Given the description of an element on the screen output the (x, y) to click on. 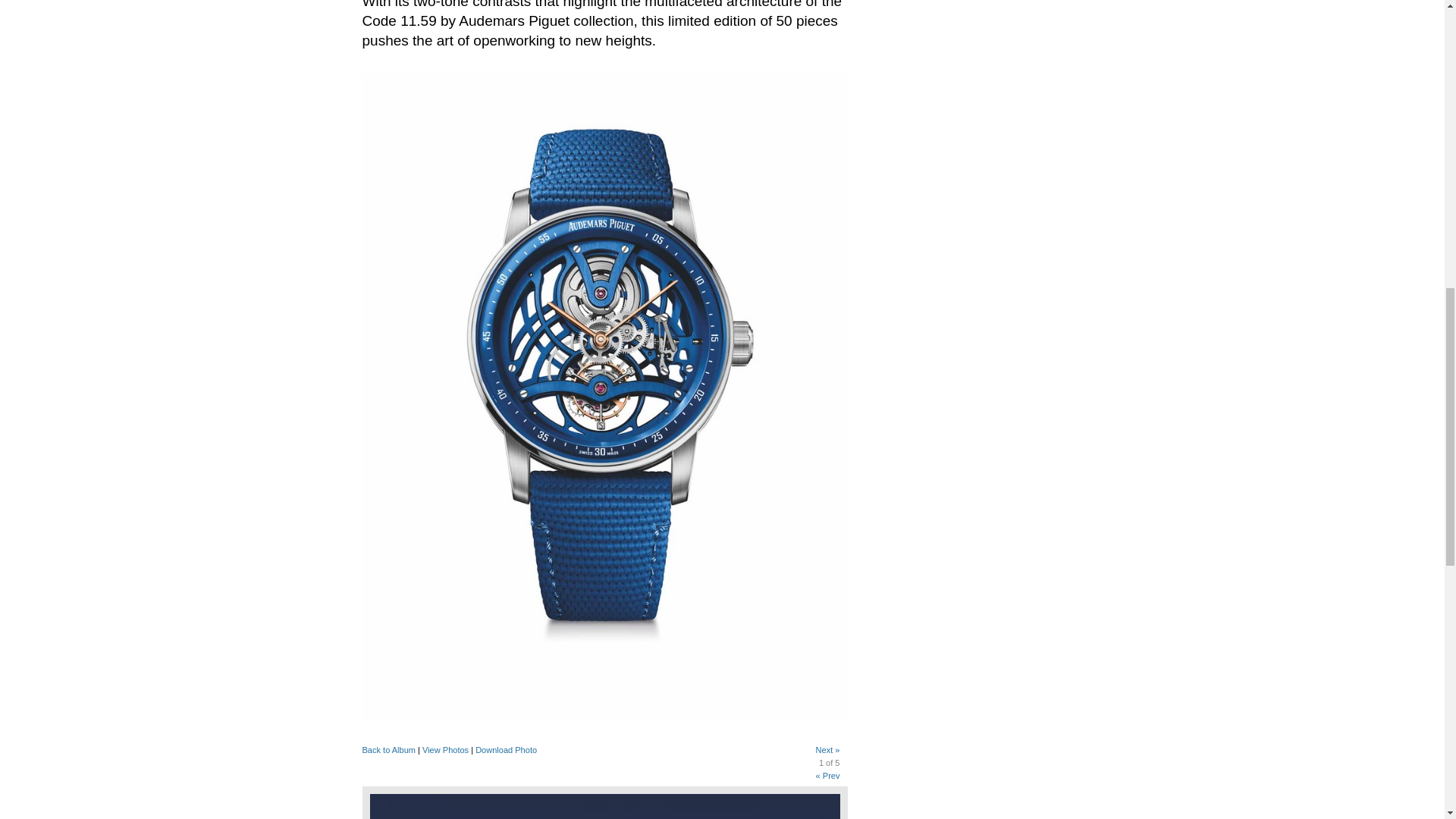
Back to Album (389, 749)
View Photos (445, 749)
Download Photo (506, 749)
